Given the description of an element on the screen output the (x, y) to click on. 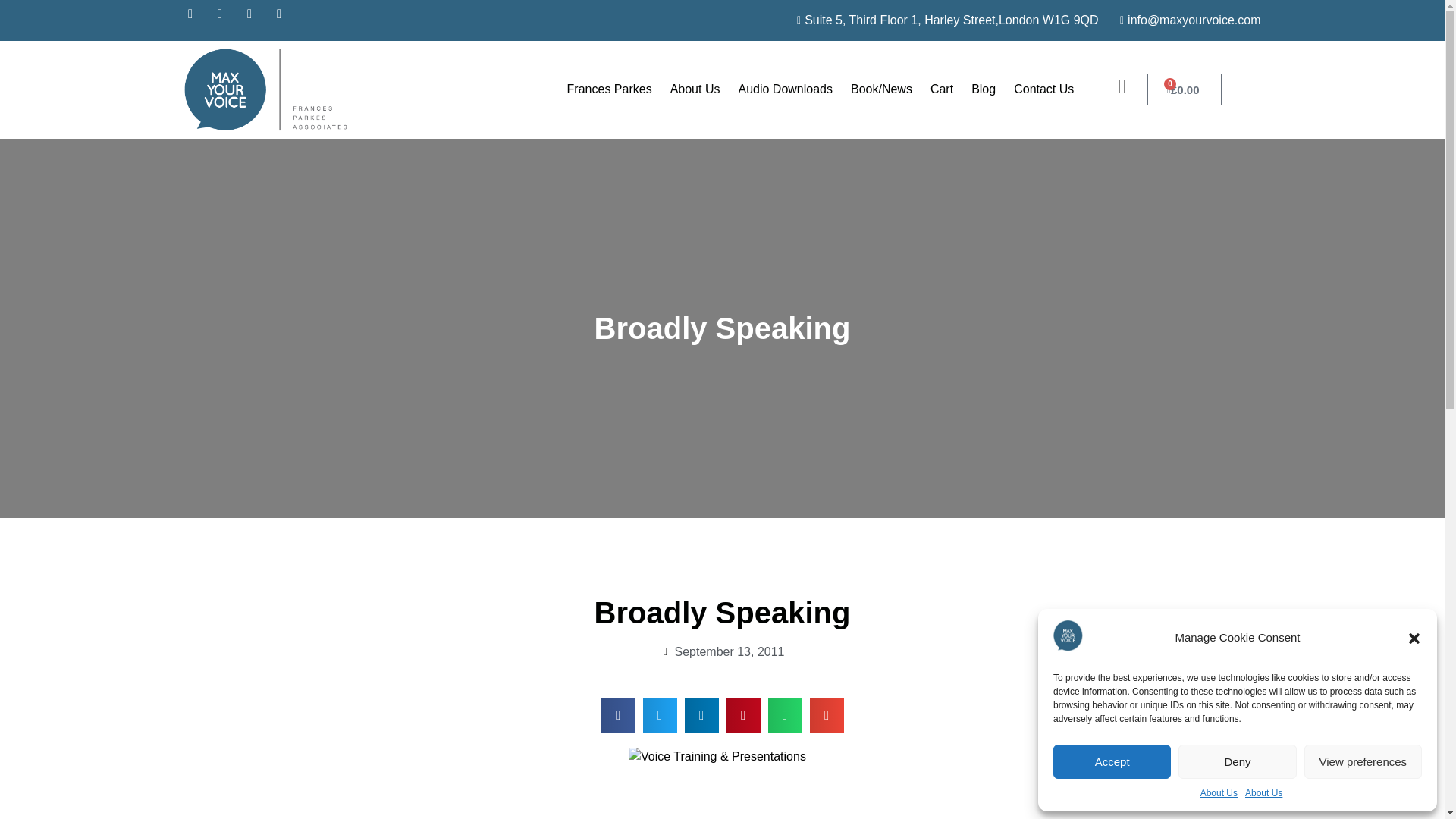
About Us (1263, 793)
Contact Us (1043, 89)
About Us (1218, 793)
September 13, 2011 (721, 651)
Accept (1111, 761)
Frances Parkes (609, 89)
Cart (941, 89)
About Us (695, 89)
Audio Downloads (785, 89)
Deny (1236, 761)
